Given the description of an element on the screen output the (x, y) to click on. 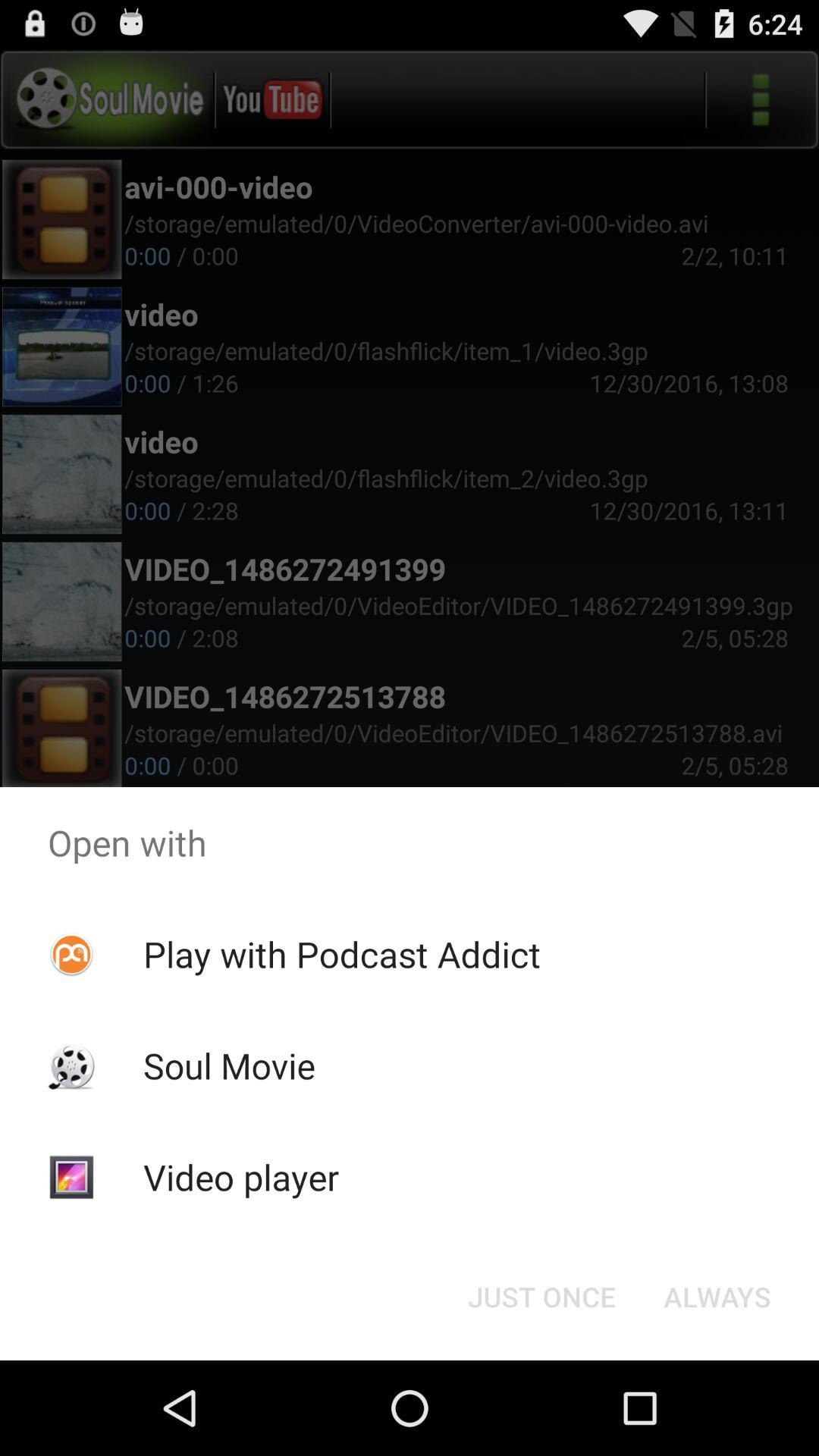
jump to the video player icon (240, 1176)
